Given the description of an element on the screen output the (x, y) to click on. 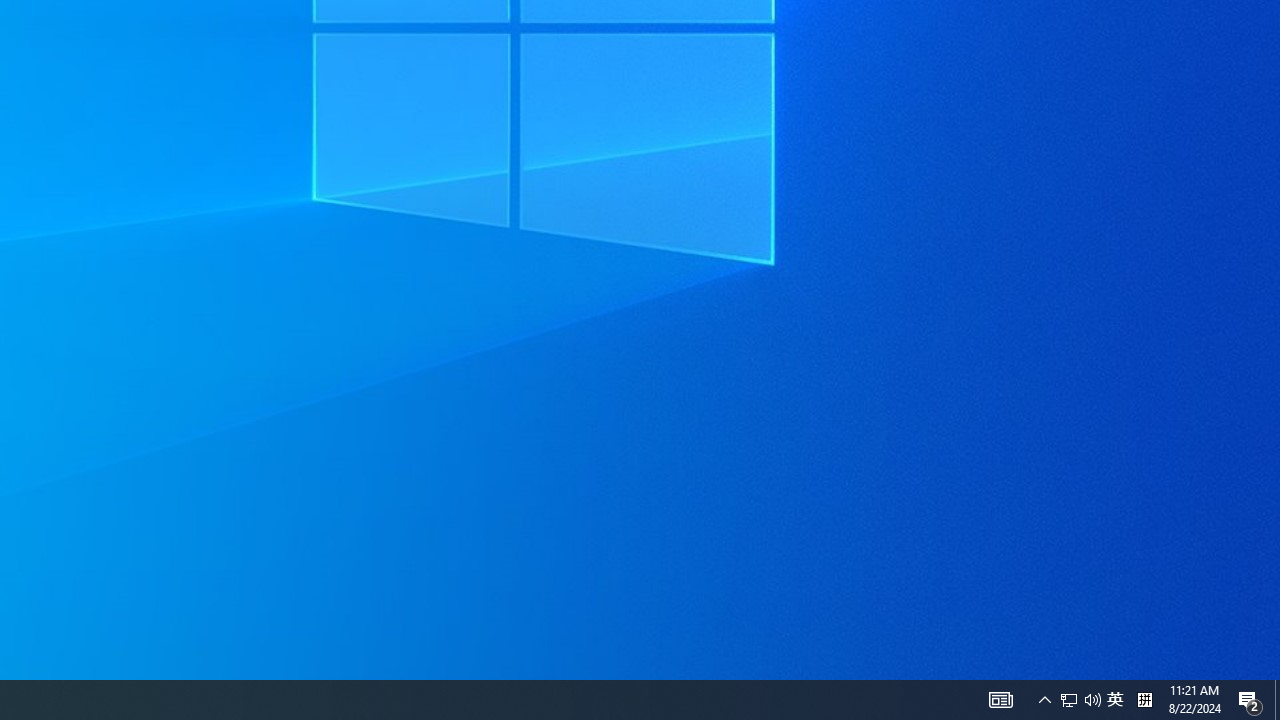
Show desktop (1277, 699)
Q2790: 100% (1092, 699)
AutomationID: 4105 (1115, 699)
User Promoted Notification Area (1069, 699)
Notification Chevron (1000, 699)
Tray Input Indicator - Chinese (Simplified, China) (1080, 699)
Action Center, 2 new notifications (1044, 699)
